Given the description of an element on the screen output the (x, y) to click on. 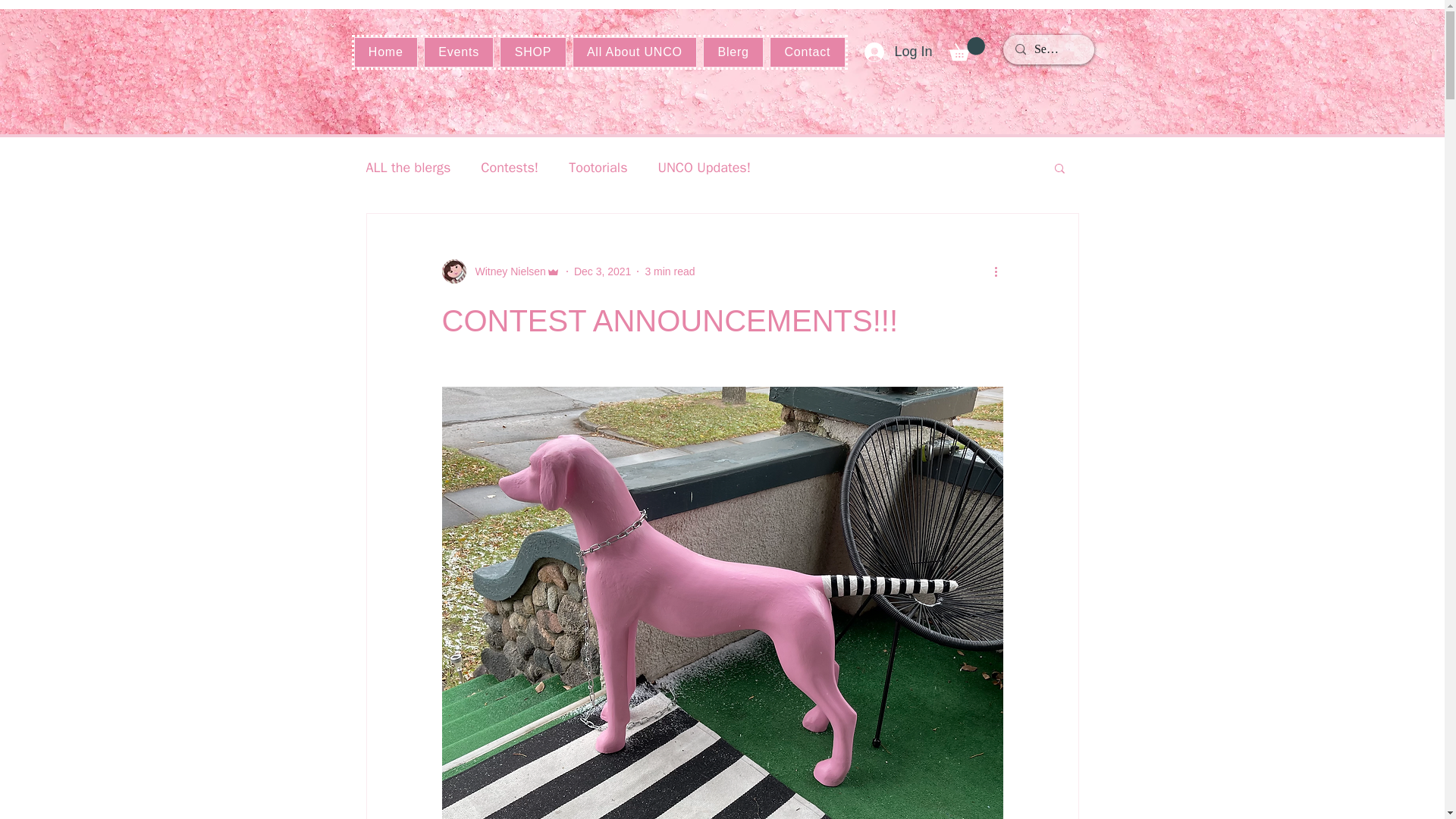
Tootorials (598, 167)
Home (385, 51)
UNCO Updates! (704, 167)
Contact (807, 51)
Blerg (732, 51)
Witney Nielsen (500, 271)
SHOP (532, 51)
Witney Nielsen (504, 271)
Contests! (509, 167)
3 min read (669, 271)
